Given the description of an element on the screen output the (x, y) to click on. 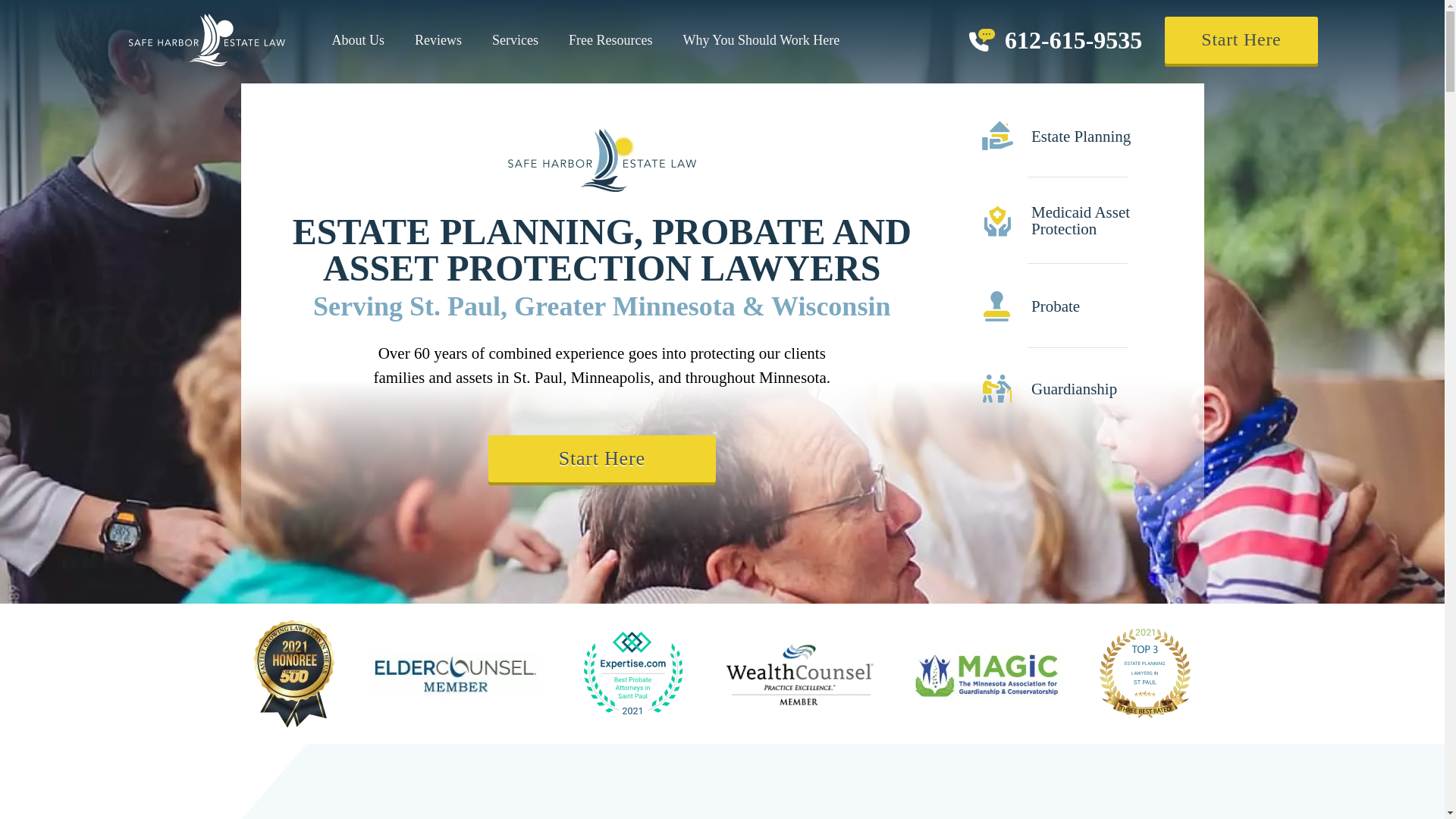
About Us (358, 39)
Free Resources (609, 39)
Services (515, 39)
Reviews (437, 39)
